Given the description of an element on the screen output the (x, y) to click on. 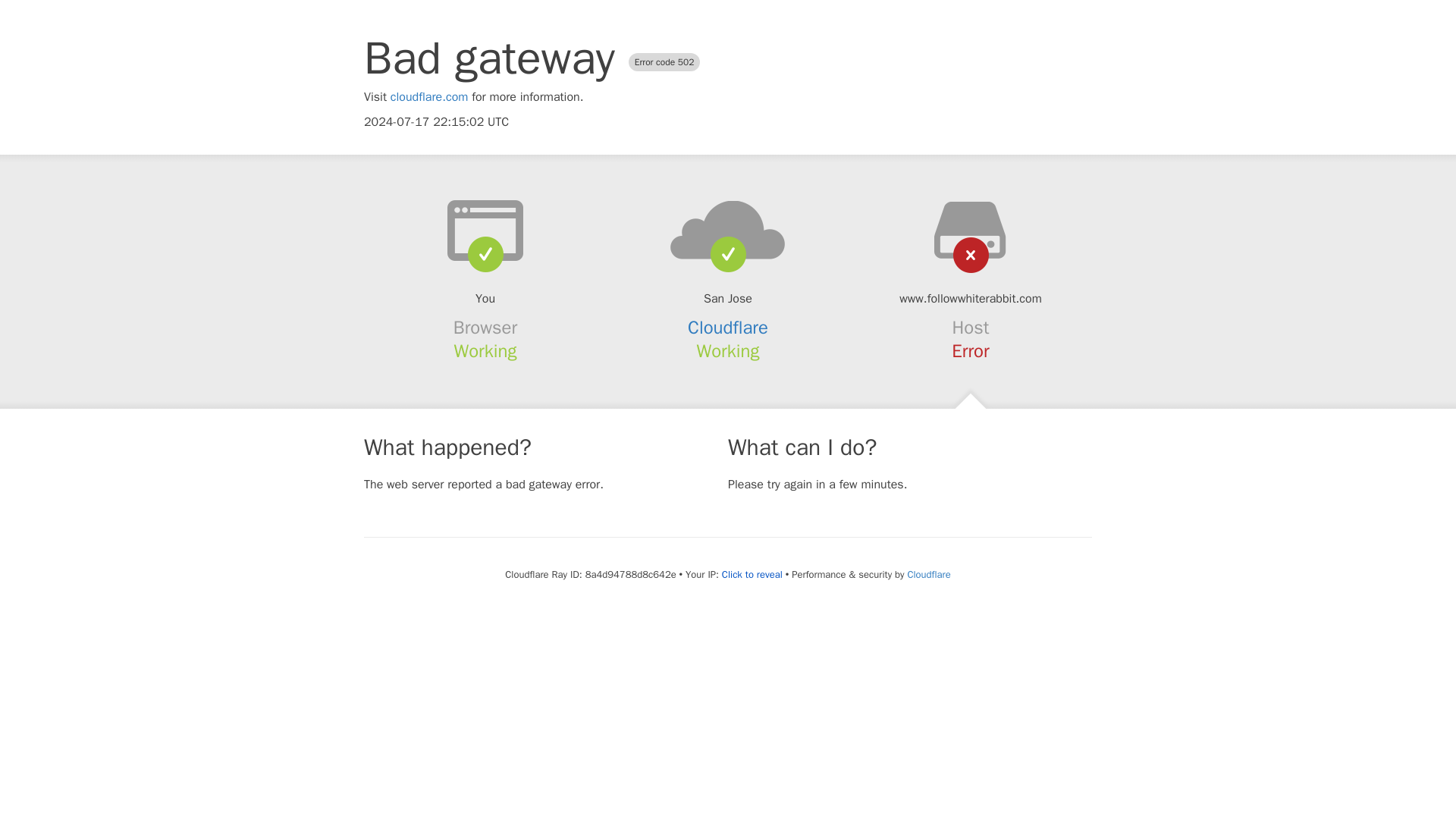
cloudflare.com (429, 96)
Cloudflare (928, 574)
Click to reveal (752, 574)
Cloudflare (727, 327)
